Given the description of an element on the screen output the (x, y) to click on. 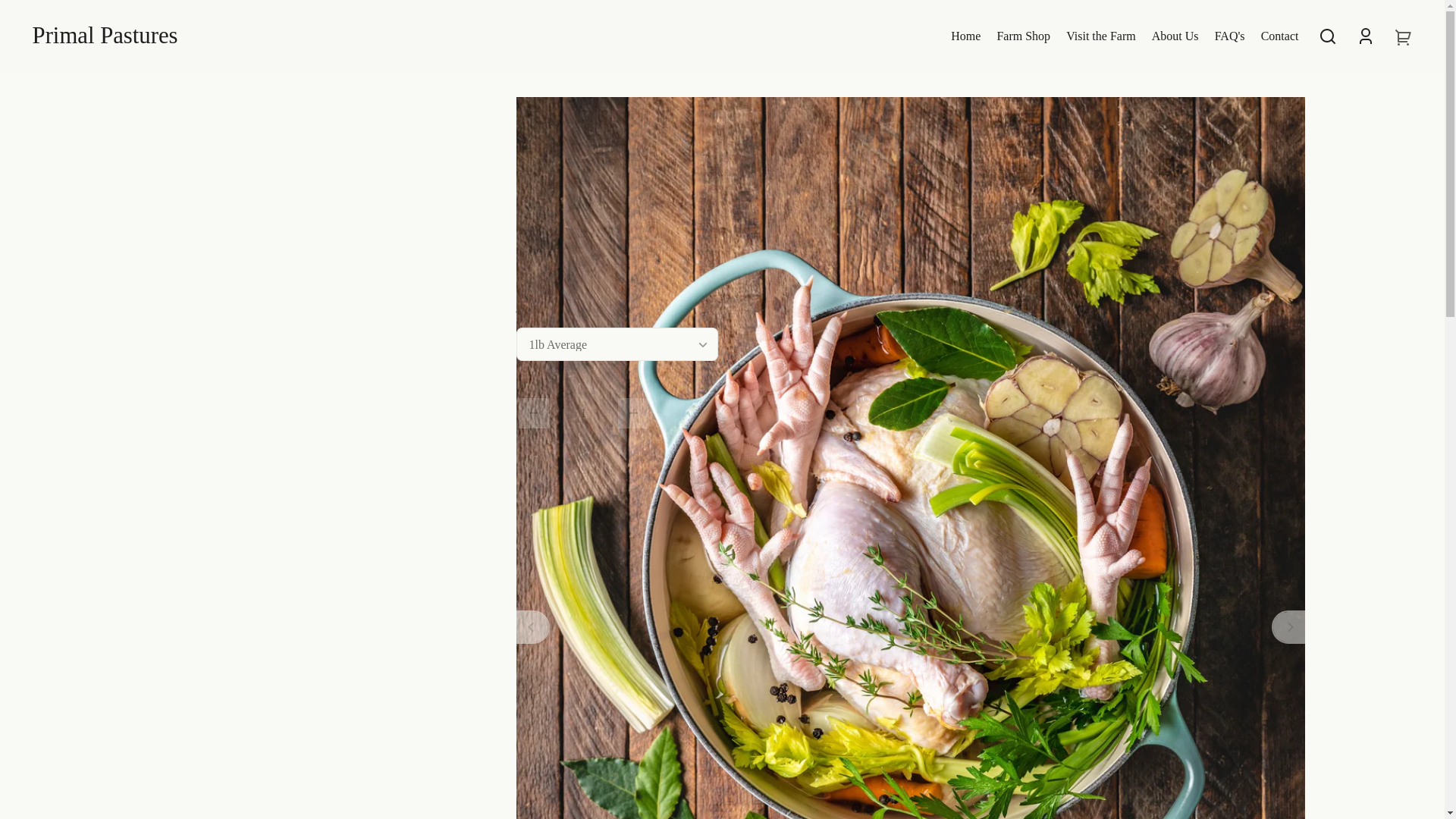
Skip to product information (24, 88)
Increase quantity for Chicken Feet (632, 412)
FAQ's (1229, 35)
Farm Shop (1023, 35)
Add to cart (793, 412)
Visit the Farm (1101, 35)
CHICKEN FEET (783, 128)
Log in (1365, 36)
Shipping (609, 243)
View store information (684, 472)
